Given the description of an element on the screen output the (x, y) to click on. 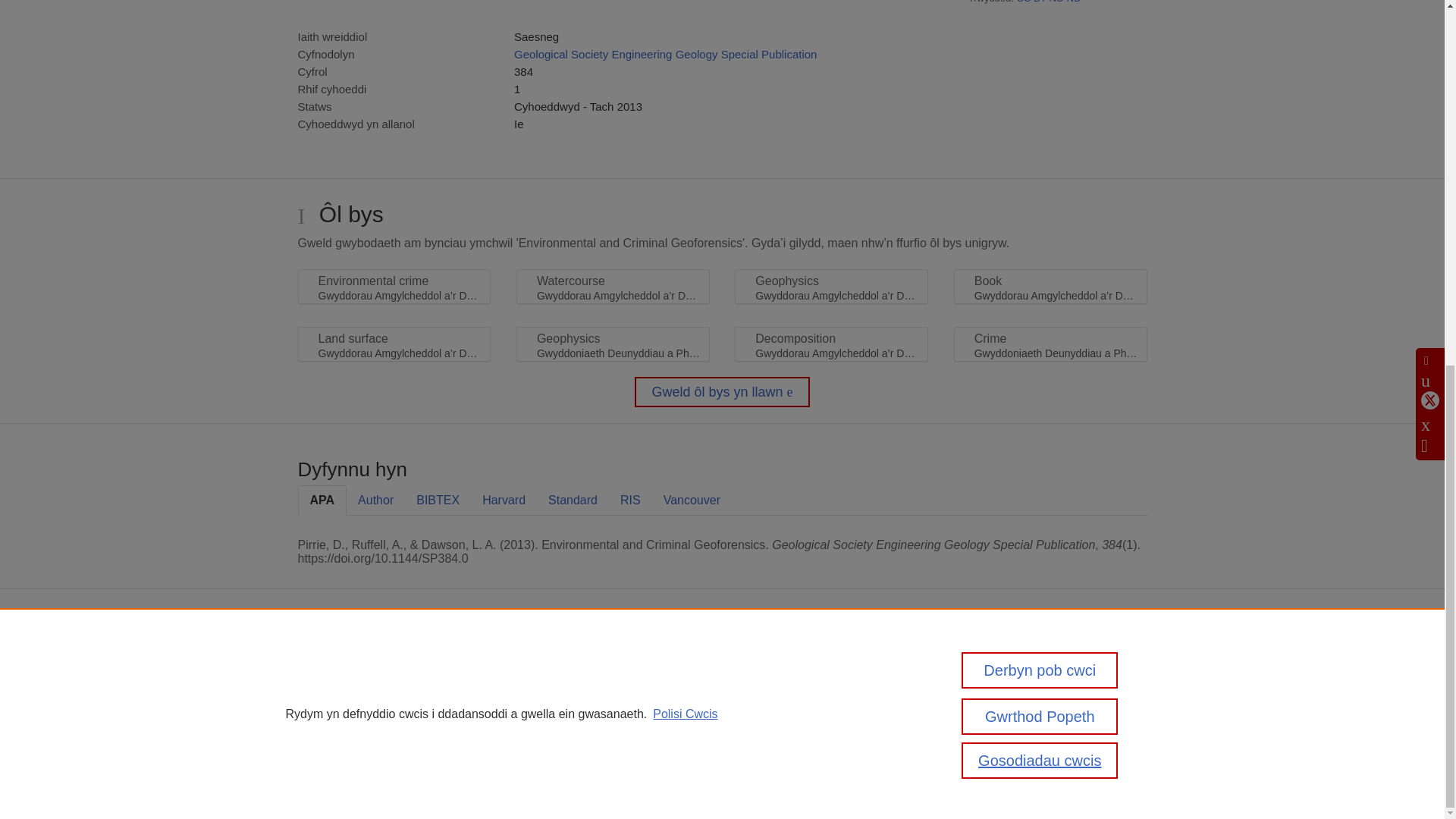
Geological Society Engineering Geology Special Publication (664, 53)
CC BY-NC-ND (1048, 2)
